Given the description of an element on the screen output the (x, y) to click on. 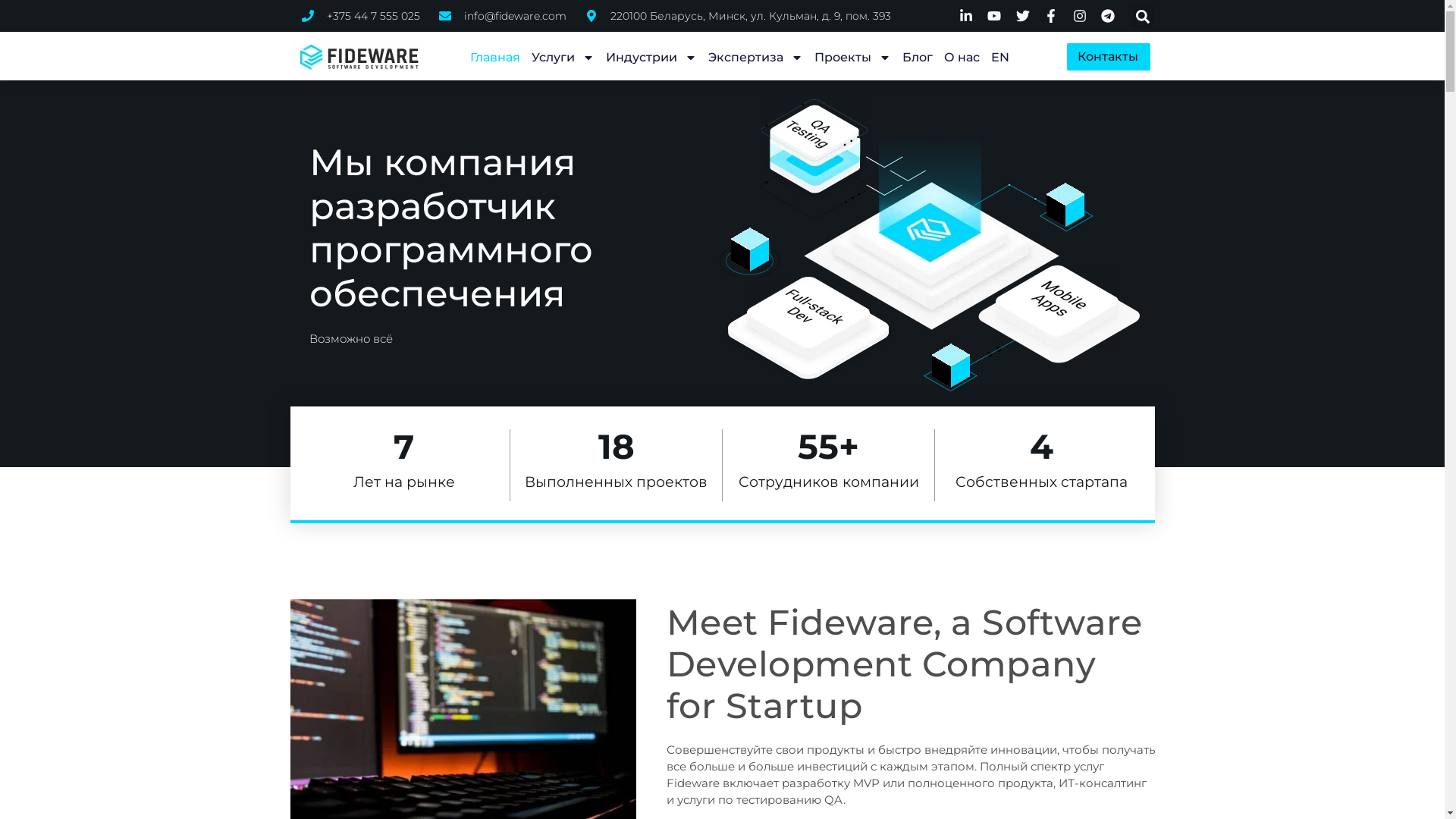
mobile apps button Element type: hover (1057, 305)
qa testing button Element type: hover (814, 131)
+375 44 7 555 025 Element type: text (360, 15)
cube Element type: hover (1066, 204)
cube background Element type: hover (749, 259)
mobile apps and full-stack dev background Element type: hover (808, 326)
qa testing background Element type: hover (813, 138)
base background Element type: hover (929, 239)
cube background Element type: hover (1066, 215)
full-stack dev button Element type: hover (807, 316)
EN Element type: text (1000, 57)
cube background Element type: hover (950, 375)
info@fideware.com Element type: text (501, 15)
mobile apps and full-stack dev background Element type: hover (1057, 315)
cube Element type: hover (749, 249)
cube Element type: hover (950, 365)
